Given the description of an element on the screen output the (x, y) to click on. 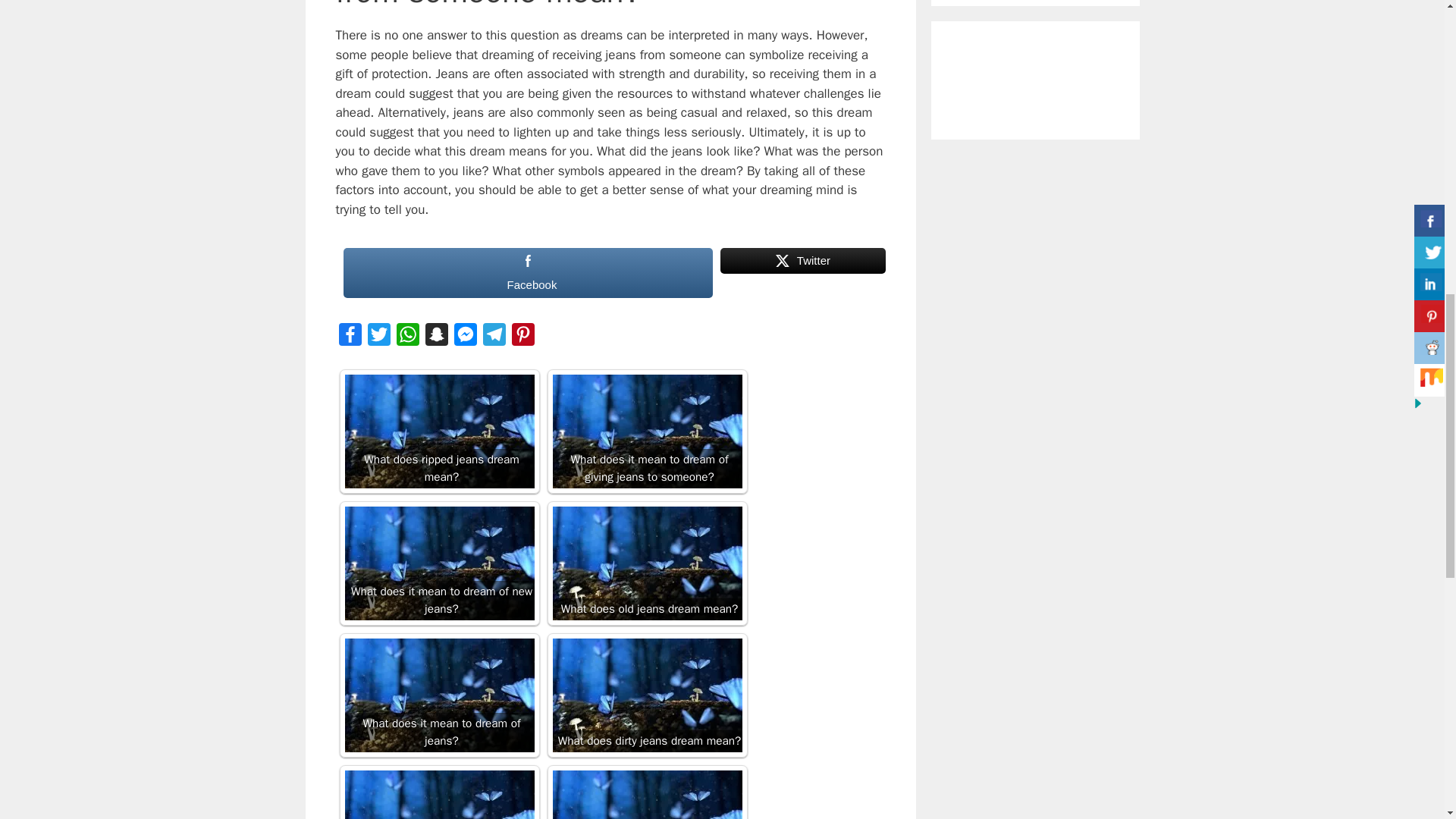
Telegram (493, 337)
What does old jeans dream mean? (646, 562)
Snapchat (435, 337)
Twitter (802, 272)
What does dirty jeans dream mean? (646, 695)
WhatsApp (407, 337)
Pinterest (522, 337)
What does it mean to dream of new jeans? (438, 562)
What does it mean to dream of selling jeans? (646, 794)
Facebook (349, 337)
